Given the description of an element on the screen output the (x, y) to click on. 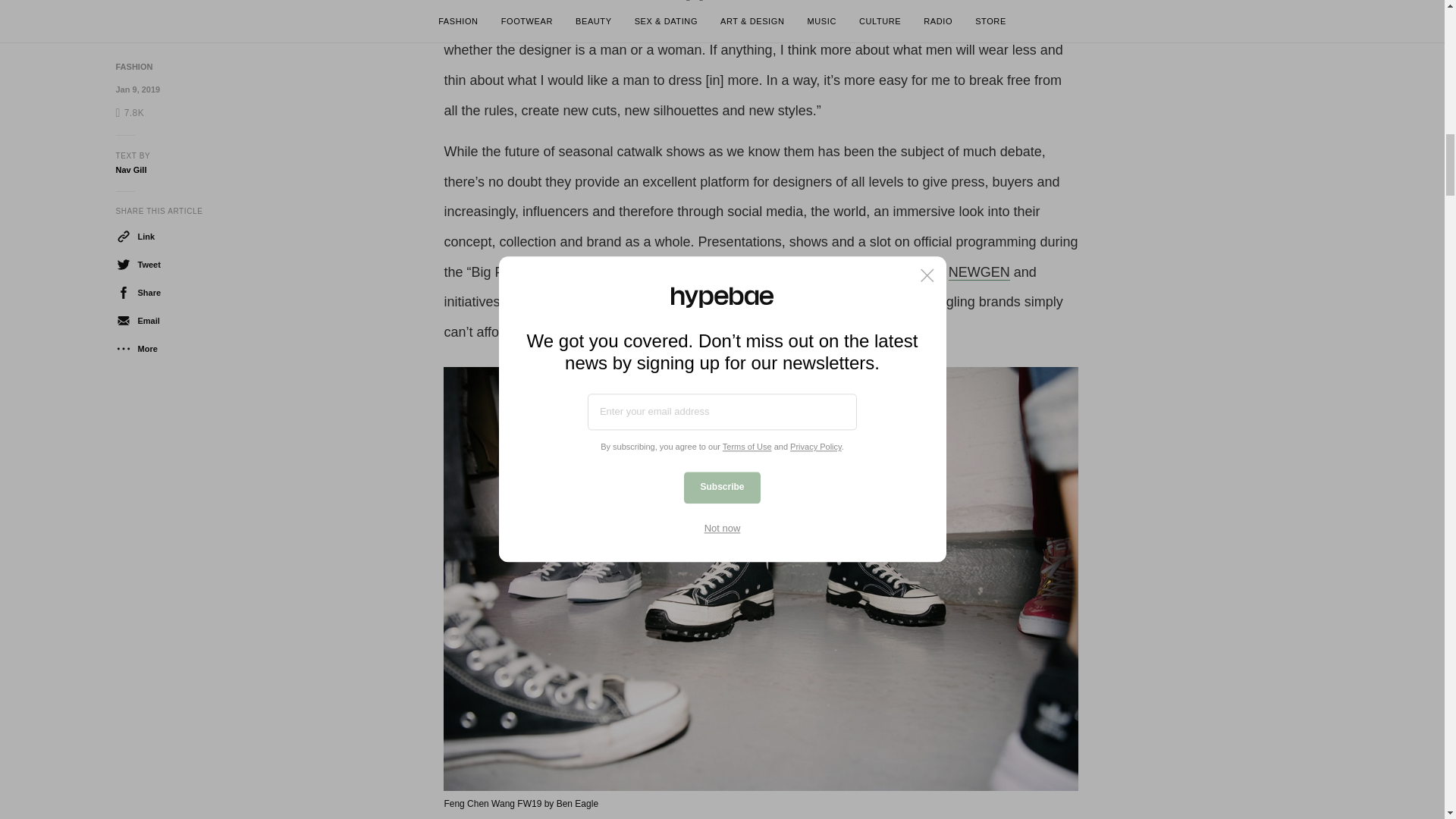
NEWGEN (979, 271)
